Given the description of an element on the screen output the (x, y) to click on. 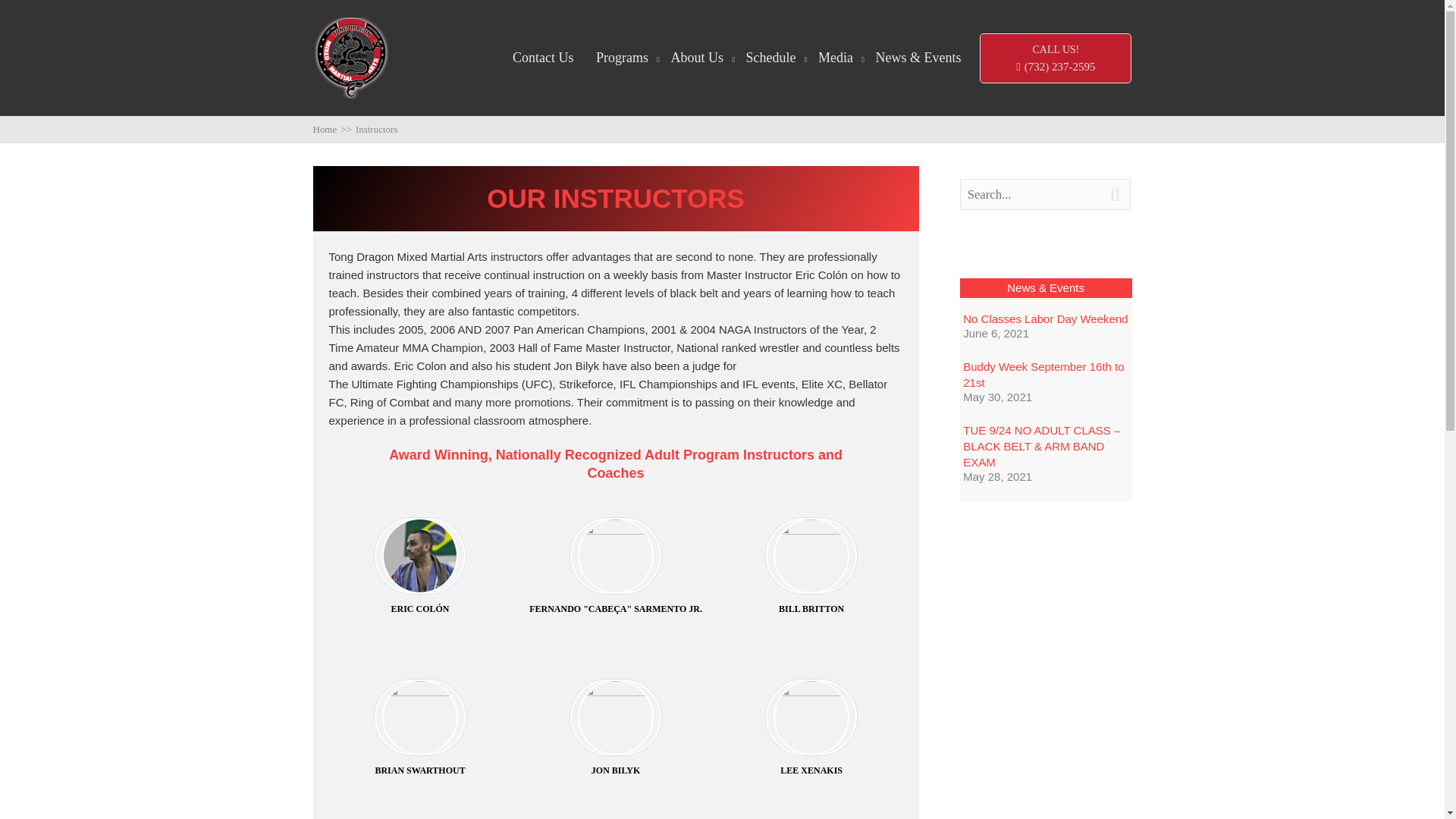
ASHLEIGH BRITTON (811, 816)
brian (420, 716)
LEE XENAKIS (811, 728)
BRIAN SWARTHOUT (419, 728)
Bill-Britton-tong-dragon-instructor (810, 555)
BILL BRITTON (811, 567)
eric-colon-tong-dragon-instructor (420, 555)
Programs (621, 57)
Contact Us (542, 57)
About Us (697, 57)
